Given the description of an element on the screen output the (x, y) to click on. 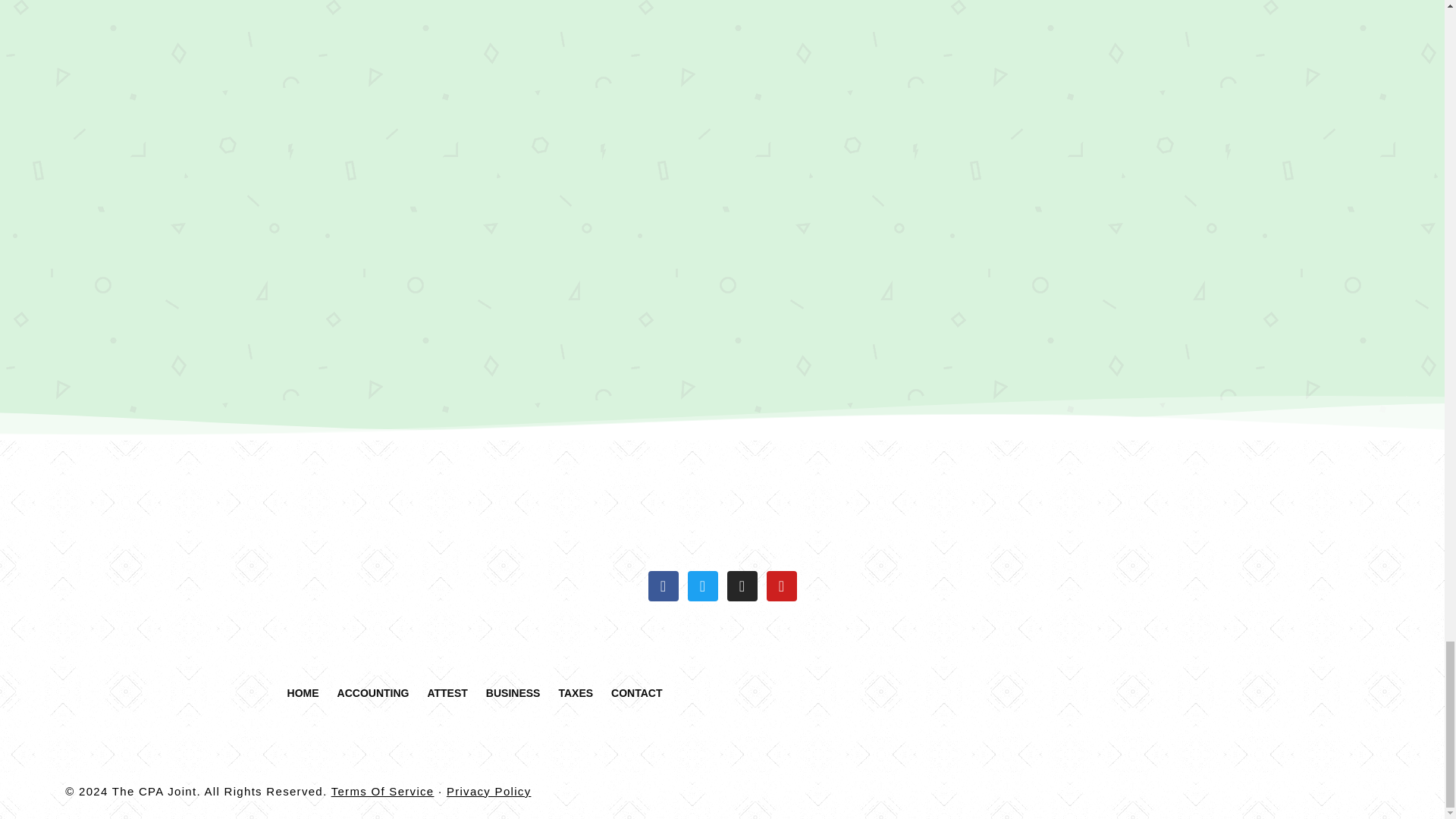
HOME (302, 692)
